Given the description of an element on the screen output the (x, y) to click on. 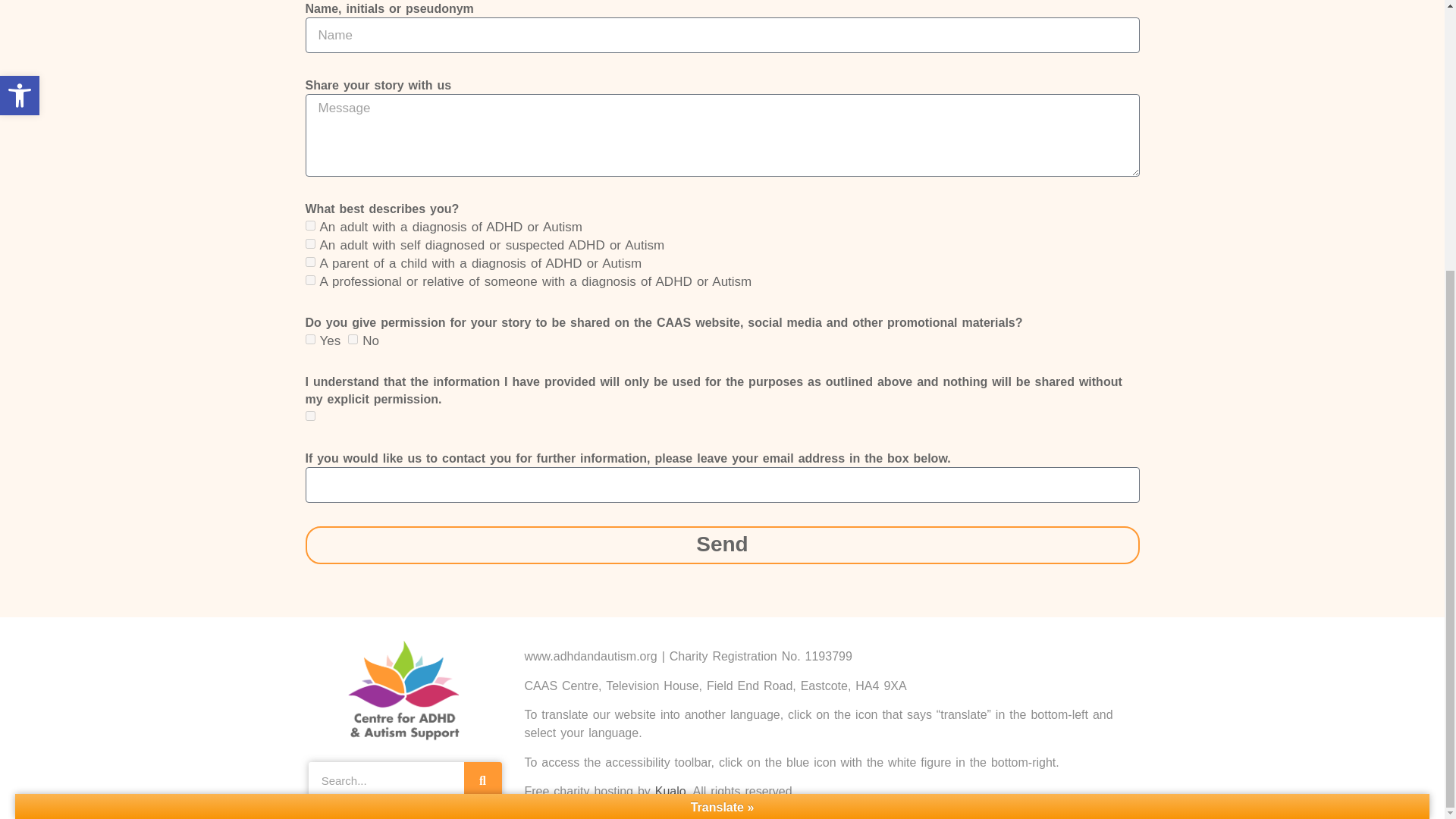
An adult with a diagnosis of ADHD or Autism (309, 225)
A parent of a child with  a diagnosis of ADHD or Autism (309, 261)
No (352, 338)
on (309, 415)
An adult with self diagnosed or suspected ADHD or Autism (309, 243)
Yes (309, 338)
